Given the description of an element on the screen output the (x, y) to click on. 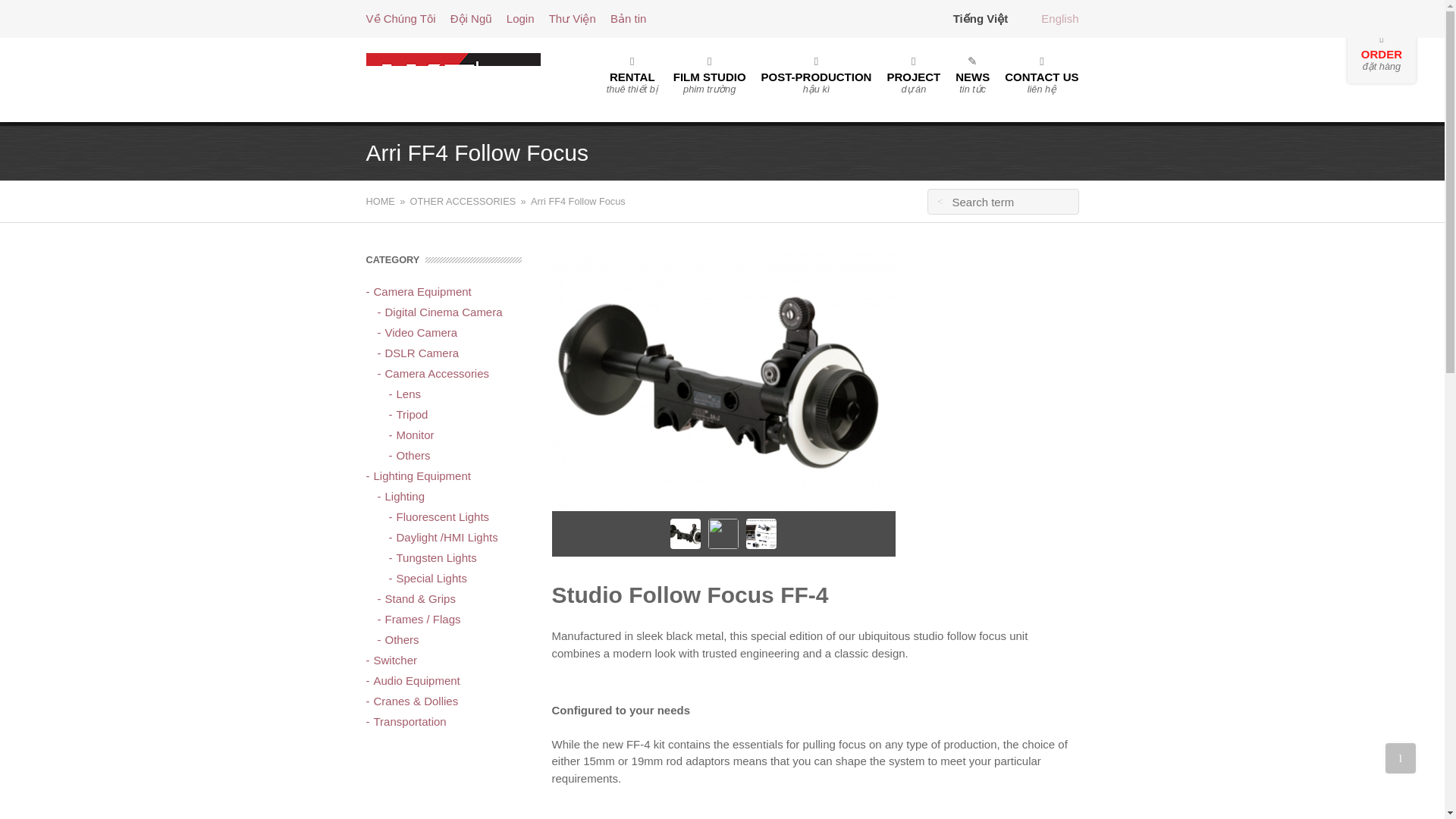
FF43 (723, 382)
Login (520, 18)
Submit (939, 201)
FF43 (452, 79)
Go to main navigation (723, 380)
English (578, 200)
